Given the description of an element on the screen output the (x, y) to click on. 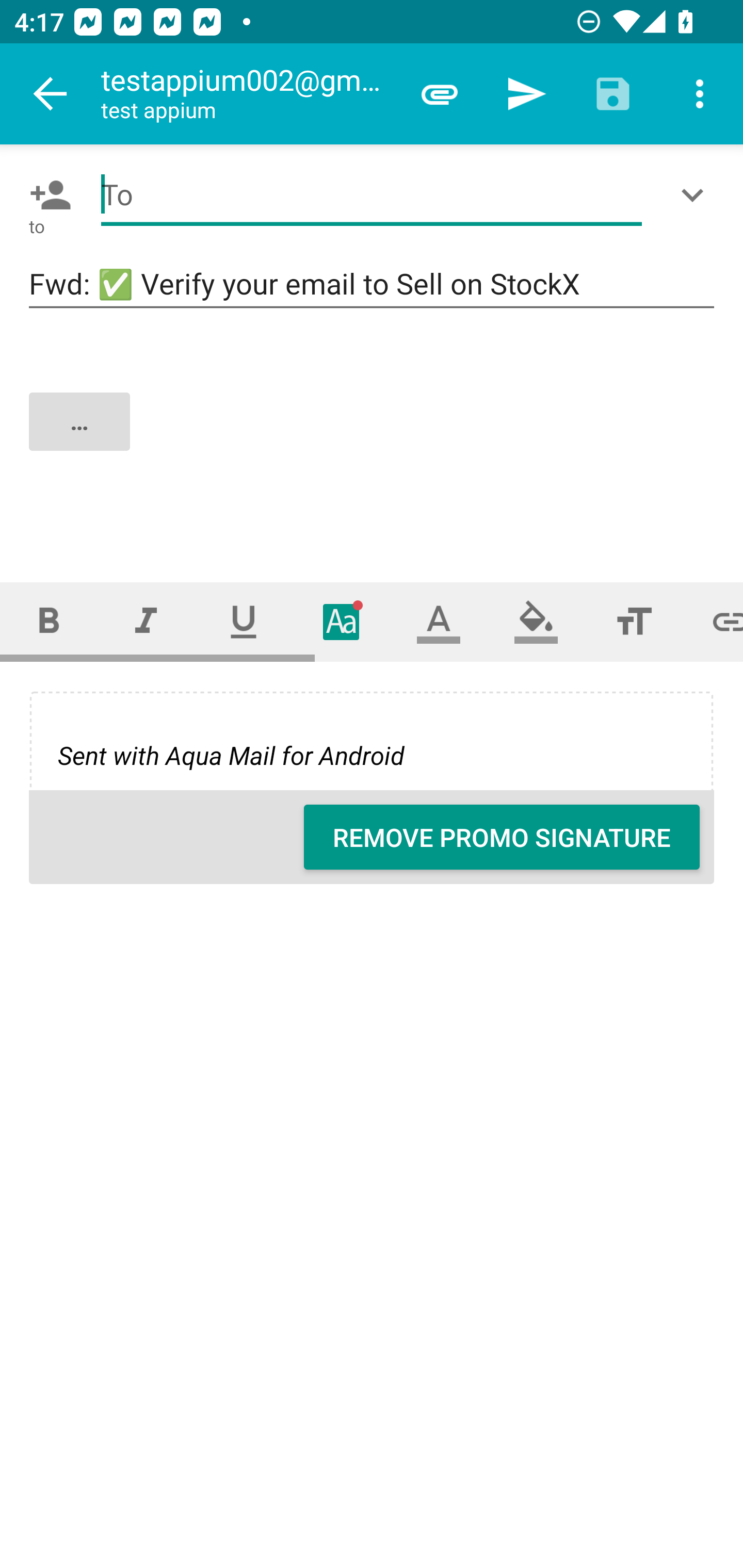
Navigate up (50, 93)
testappium002@gmail.com test appium (248, 93)
Attach (439, 93)
Send (525, 93)
Save (612, 93)
More options (699, 93)
Pick contact: To (46, 195)
Show/Add CC/BCC (696, 195)
To (371, 195)
Fwd: ✅ Verify your email to Sell on StockX (371, 284)

…
 (372, 438)
Bold (48, 621)
Italic (145, 621)
Underline (243, 621)
Typeface (font) (341, 621)
Text color (438, 621)
Fill color (536, 621)
Font size (633, 621)
REMOVE PROMO SIGNATURE (501, 837)
